Given the description of an element on the screen output the (x, y) to click on. 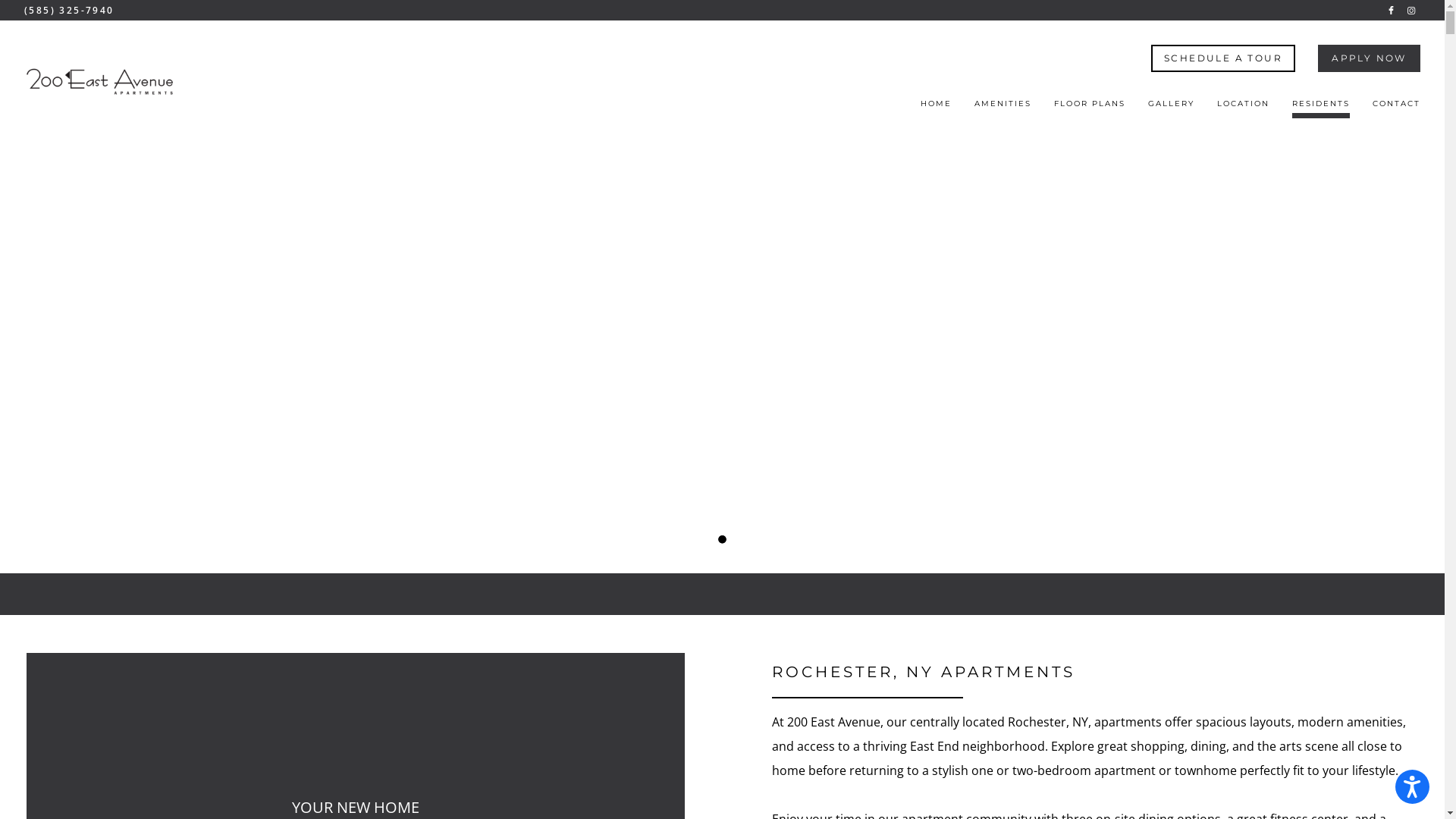
SCHEDULE A TOUR Element type: text (1223, 58)
HOME Element type: text (935, 108)
GALLERY Element type: text (1171, 108)
RESIDENTS Element type: text (1320, 108)
AMENITIES Element type: text (1002, 108)
FLOOR PLANS Element type: text (1089, 108)
Home Element type: hover (99, 81)
CONTACT Element type: text (1396, 108)
(585) 325-7940 Element type: text (69, 9)
LOCATION Element type: text (1243, 108)
APPLY NOW Element type: text (1368, 58)
